Given the description of an element on the screen output the (x, y) to click on. 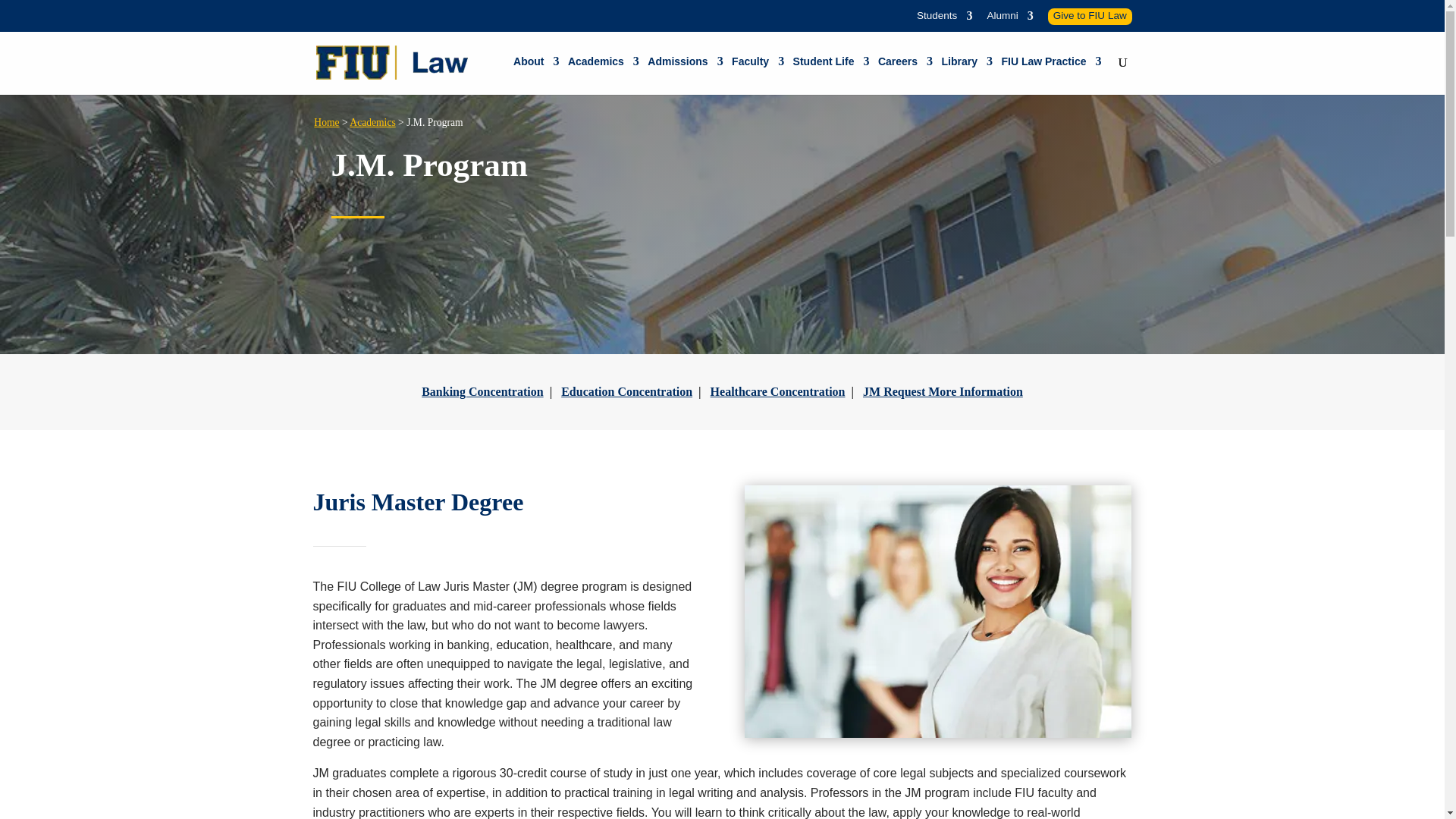
About (536, 67)
Alumni (1009, 19)
Academics (603, 67)
Give to FIU Law (1090, 16)
Students (944, 19)
